Given the description of an element on the screen output the (x, y) to click on. 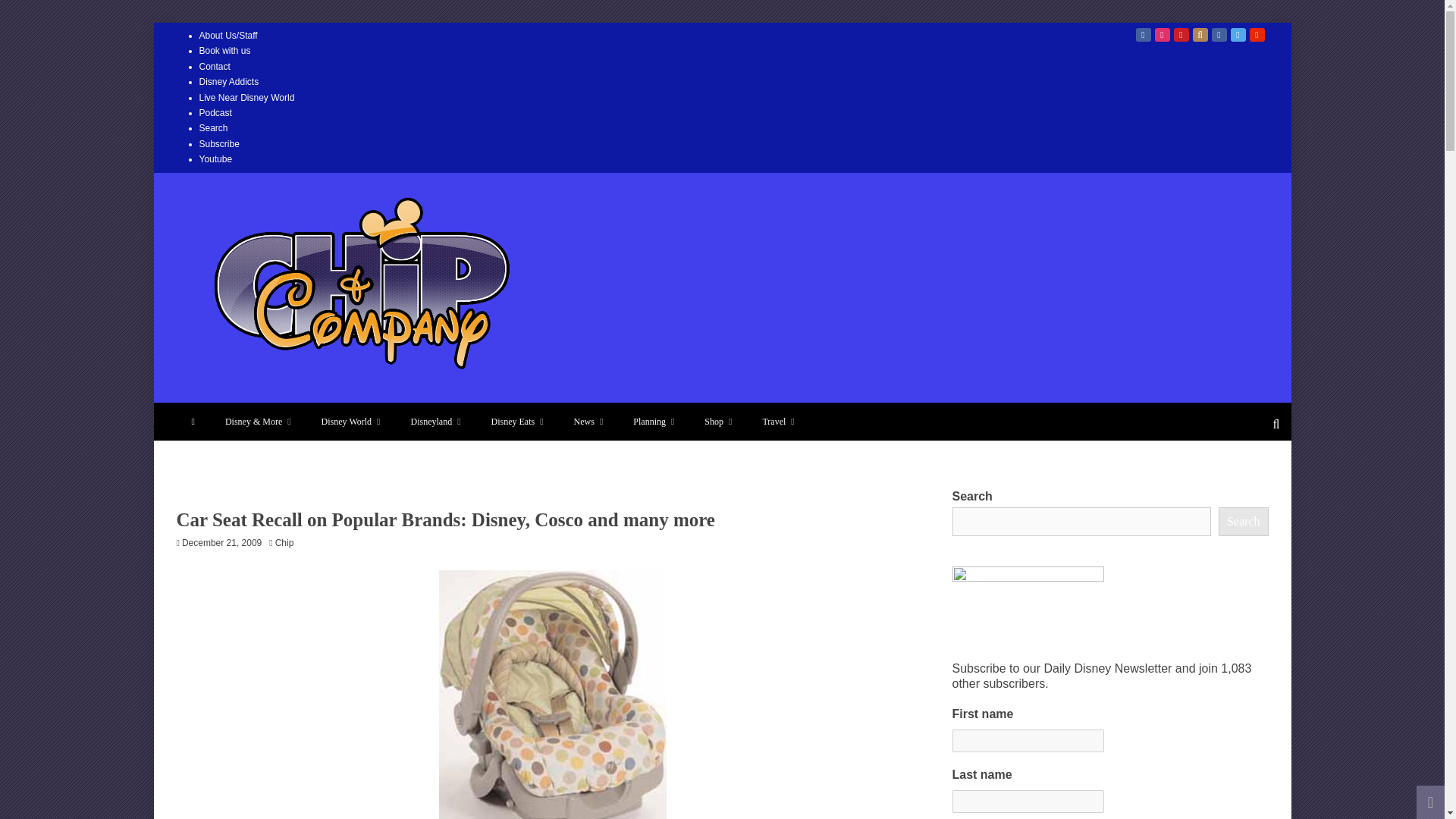
Last name (1027, 801)
Contact (214, 66)
Search (212, 127)
Book with us (224, 50)
Twitter (1237, 34)
CHIP AND COMPANY (339, 400)
Podcasts (1199, 34)
Instagram (1161, 34)
Pinterest (1181, 34)
Live Near Disney World (246, 97)
Youtube (214, 158)
Subscribe (218, 143)
Youtube (1257, 34)
Disney Addicts (228, 81)
